Given the description of an element on the screen output the (x, y) to click on. 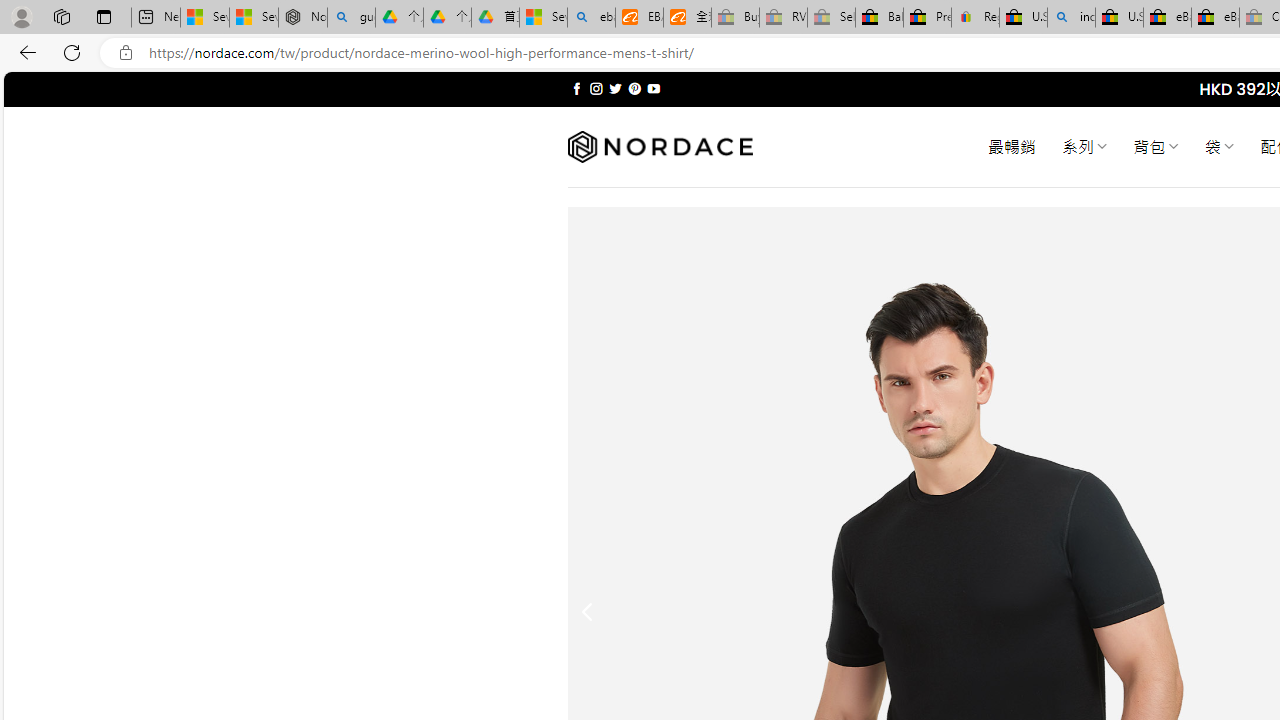
U.S. State Privacy Disclosures - eBay Inc. (1119, 17)
Follow on YouTube (653, 88)
eBay Inc. Reports Third Quarter 2023 Results (1215, 17)
Follow on Instagram (596, 88)
guge yunpan - Search (351, 17)
ebay - Search (591, 17)
